Given the description of an element on the screen output the (x, y) to click on. 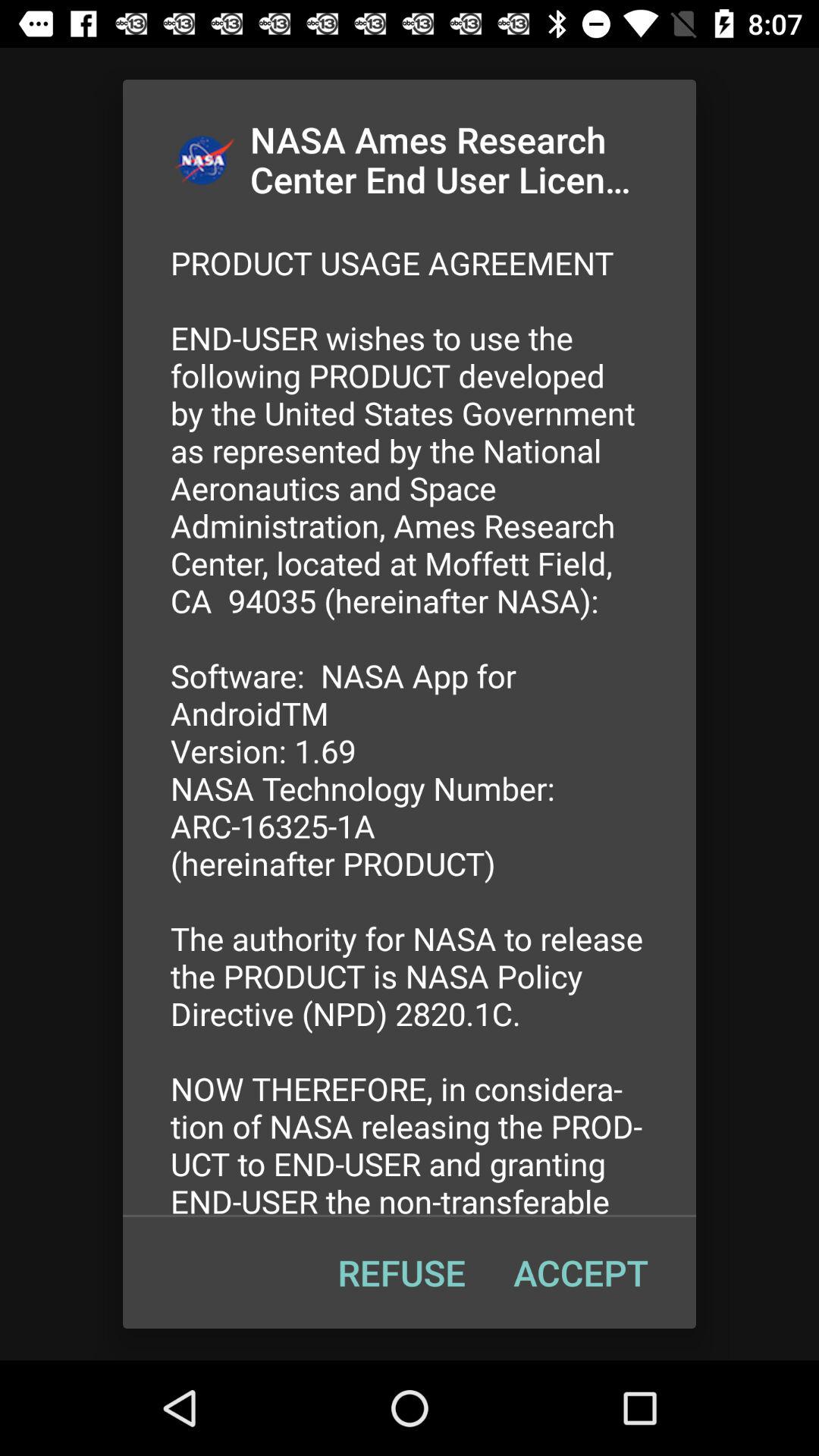
open the item next to the accept (401, 1272)
